Given the description of an element on the screen output the (x, y) to click on. 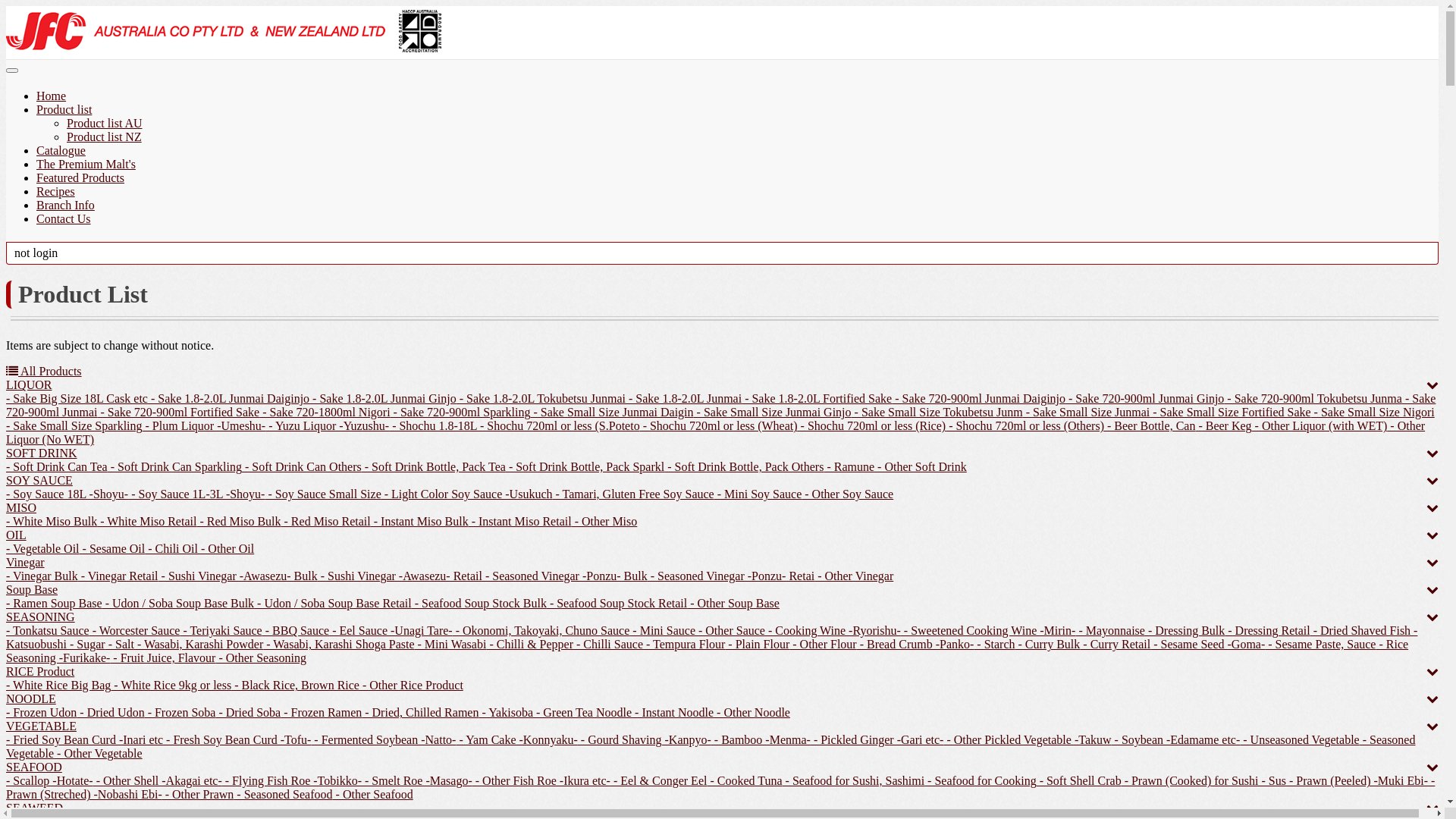
- Sesame Oil Element type: text (112, 548)
- Sake Big Size 18L Cask etc Element type: text (76, 398)
- Sake Small Size Junmai Element type: text (1086, 411)
- Black Rice, Brown Rice Element type: text (295, 684)
Home Element type: text (50, 96)
- Other Seasoning Element type: text (260, 657)
MISO Element type: text (21, 507)
- Dressing Retail Element type: text (1266, 630)
- Sake 720-900ml Tokubetsu Junma Element type: text (1312, 398)
- Green Tea Noodle Element type: text (582, 712)
- Sake 720-900ml Sparkling Element type: text (460, 411)
- Sweetened Cooking Wine -Mirin- Element type: text (988, 630)
- Soft Drink Can Tea Element type: text (56, 466)
- Shochu 720ml or less (Wheat) Element type: text (718, 425)
- Shochu 720ml or less (Others) Element type: text (1024, 425)
- Frozen Ramen Element type: text (320, 712)
All Products Element type: text (43, 370)
- Instant Miso Bulk Element type: text (419, 520)
- Tamari, Gluten Free Soy Sauce Element type: text (632, 493)
- Okonomi, Takoyaki, Chuno Sauce Element type: text (541, 630)
- Salt Element type: text (119, 643)
- Flying Fish Roe -Tobikko- Element type: text (291, 780)
- Scallop -Hotate- Element type: text (49, 780)
- Cooking Wine -Ryorishu- Element type: text (832, 630)
- Sake Small Size Junmai Daigin Element type: text (611, 411)
Recipes Element type: text (55, 192)
- Other Liquor (with WET) Element type: text (1319, 425)
- Sake Small Size Tokubetsu Junm Element type: text (936, 411)
- Dried Shaved Fish -Katsuobushi Element type: text (711, 637)
- Beer Bottle, Can Element type: text (1149, 425)
- Soft Drink Bottle, Pack Tea Element type: text (433, 466)
- Other Prawn Element type: text (198, 793)
- Tonkatsu Sauce Element type: text (47, 630)
- Prawn (Cooked) for Sushi - Sus Element type: text (1203, 780)
- Eel & Conger Eel Element type: text (658, 780)
- Curry Bulk Element type: text (1047, 643)
Soup Base Element type: text (31, 589)
- Pickled Ginger -Gari etc- Element type: text (876, 739)
- Yuzu Liquor -Yuzushu- Element type: text (327, 425)
- Sake 1.8-2.0L Fortified Sake Element type: text (816, 398)
Product list AU Element type: text (104, 122)
- Seasoned Vinegar -Ponzu- Retai Element type: text (730, 575)
- Other Oil Element type: text (225, 548)
- Chilli & Pepper Element type: text (529, 643)
- Soft Drink Bottle, Pack Others Element type: text (743, 466)
- Sake 1.8-2.0L Junmai Daiginjo Element type: text (228, 398)
- Starch Element type: text (993, 643)
- Sake 720-900ml Junmai Element type: text (720, 405)
SEAFOOD Element type: text (34, 766)
- Other Pickled Vegetable -Takuw Element type: text (1026, 739)
- Other Flour Element type: text (822, 643)
SEAWEED Element type: text (34, 807)
- Curry Retail Element type: text (1114, 643)
- Sushi Vinegar -Awasezu- Bulk Element type: text (237, 575)
- Seasoned Vegetable Element type: text (710, 746)
- Light Color Soy Sauce -Usukuch Element type: text (466, 493)
- White Miso Bulk Element type: text (51, 520)
Branch Info Element type: text (65, 206)
- Mini Sauce Element type: text (662, 630)
- Cooked Tuna Element type: text (743, 780)
Featured Products Element type: text (80, 178)
- Sugar Element type: text (85, 643)
- Chili Oil Element type: text (170, 548)
- Rice Seasoning -Furikake- Element type: text (707, 650)
- Soybean -Edamame etc- Element type: text (1175, 739)
- Worcester Sauce Element type: text (134, 630)
- Sake 720-900ml Junmai Ginjo Element type: text (1144, 398)
- Sesame Paste, Sauce Element type: text (1319, 643)
- Wasabi, Karashi Powder Element type: text (198, 643)
- Soy Sauce 18L -Shoyu- Element type: text (67, 493)
- Sake 1.8-2.0L Junmai Element type: text (683, 398)
- Prawn (Streched) -Nobashi Ebi- Element type: text (720, 787)
- Udon / Soba Soup Base Bulk Element type: text (178, 602)
- Seafood Soup Stock Bulk Element type: text (478, 602)
- Other Soy Sauce Element type: text (847, 493)
- Other Miso Element type: text (604, 520)
- Sake Small Size Sparkling Element type: text (74, 425)
- Vinegar Retail Element type: text (118, 575)
- Other Soft Drink Element type: text (920, 466)
- Seasoned Seafood Element type: text (282, 793)
- Mini Wasabi Element type: text (450, 643)
OIL Element type: text (16, 534)
- Smelt Roe -Masago- Element type: text (416, 780)
LIQUOR Element type: text (28, 384)
- Frozen Soba Element type: text (180, 712)
- Other Vegetable Element type: text (97, 752)
- Fermented Soybean -Natto- Element type: text (382, 739)
- Sake 720-900ml Junmai Daiginjo Element type: text (978, 398)
- Tempura Flour Element type: text (683, 643)
- Dressing Bulk Element type: text (1184, 630)
- Sake 720-1800ml Nigori Element type: text (324, 411)
- Vinegar Bulk Element type: text (42, 575)
- Yakisoba Element type: text (505, 712)
- Sake Small Size Nigori Element type: text (1372, 411)
- Dried, Chilled Ramen Element type: text (419, 712)
- Fresh Soy Bean Curd -Tofu- Element type: text (236, 739)
- Plain Flour Element type: text (756, 643)
- Shochu 720ml or less (S.Poteto Element type: text (558, 425)
- Yam Cake -Konnyaku- Element type: text (516, 739)
- Other Noodle Element type: text (751, 712)
- Dried Soba Element type: text (247, 712)
- White Rice Big Bag Element type: text (58, 684)
- Soft Drink Can Sparkling Element type: text (174, 466)
- Bread Crumb -Panko- Element type: text (915, 643)
- Other Vinegar Element type: text (853, 575)
- Red Miso Bulk Element type: text (238, 520)
- Sake 1.8-2.0L Junmai Ginjo Element type: text (382, 398)
- Sake 720-900ml Fortified Sake Element type: text (178, 411)
- Soft Shell Crab Element type: text (1078, 780)
- Seasoned Vinegar -Ponzu- Bulk Element type: text (564, 575)
- Chilli Sauce Element type: text (608, 643)
- Other Fish Roe -Ikura etc- Element type: text (541, 780)
SEASONING Element type: text (40, 616)
- Red Miso Retail Element type: text (325, 520)
- Instant Miso Retail Element type: text (519, 520)
- Sake 1.8-2.0L Tokubetsu Junmai Element type: text (540, 398)
Catalogue Element type: text (60, 151)
- Instant Noodle Element type: text (672, 712)
- Udon / Soba Soup Base Retail Element type: text (332, 602)
VEGETABLE Element type: text (41, 725)
- Other Sauce Element type: text (730, 630)
- Ramen Soup Base Element type: text (54, 602)
- Soy Sauce Small Size Element type: text (322, 493)
The Premium Malt's Element type: text (85, 165)
- Mini Soy Sauce Element type: text (758, 493)
- Other Rice Product Element type: text (411, 684)
- Mayonnaise Element type: text (1110, 630)
NOODLE Element type: text (31, 698)
SOFT DRINK Element type: text (41, 452)
- Prawn (Peeled) -Muki Ebi- Element type: text (1356, 780)
- Other Seafood Element type: text (372, 793)
- Other Soup Base Element type: text (733, 602)
RICE Product Element type: text (40, 671)
- Soft Drink Can Others Element type: text (301, 466)
Vinegar Element type: text (25, 561)
- Vegetable Oil Element type: text (42, 548)
- Bamboo -Menma- Element type: text (760, 739)
- Seafood for Sushi, Sashimi Element type: text (853, 780)
- Unseasoned Vegetable Element type: text (1298, 739)
- Sesame Seed -Goma- Element type: text (1207, 643)
- Dried Udon Element type: text (110, 712)
- Eel Sauce -Unagi Tare- Element type: text (390, 630)
- Sushi Vinegar -Awasezu- Retail Element type: text (399, 575)
- Teriyaki Sauce Element type: text (220, 630)
- Other Liquor (No WET) Element type: text (715, 432)
Contact Us Element type: text (63, 219)
Product list NZ Element type: text (103, 136)
- White Miso Retail Element type: text (146, 520)
- Fruit Juice, Flavour Element type: text (162, 657)
- Other Shell -Akagai etc- Element type: text (157, 780)
- Shochu 1.8-18L Element type: text (432, 425)
- Seafood for Cooking Element type: text (980, 780)
- Wasabi, Karashi Shoga Paste Element type: text (338, 643)
- Sake Small Size Fortified Sake Element type: text (1229, 411)
- BBQ Sauce Element type: text (295, 630)
- White Rice 9kg or less Element type: text (170, 684)
- Plum Liquor -Umeshu- Element type: text (204, 425)
- Gourd Shaving -Kanpyo- Element type: text (644, 739)
- Fried Soy Bean Curd -Inari etc Element type: text (84, 739)
SOY SAUCE Element type: text (39, 479)
- Frozen Udon Element type: text (41, 712)
- Seafood Soup Stock Retail Element type: text (616, 602)
- Shochu 720ml or less (Rice) Element type: text (871, 425)
- Soft Drink Bottle, Pack Sparkl Element type: text (584, 466)
- Soy Sauce 1L-3L -Shoyu- Element type: text (196, 493)
- Beer Keg Element type: text (1223, 425)
Product list Element type: text (63, 110)
- Ramune Element type: text (848, 466)
- Sake Small Size Junmai Ginjo Element type: text (772, 411)
